Given the description of an element on the screen output the (x, y) to click on. 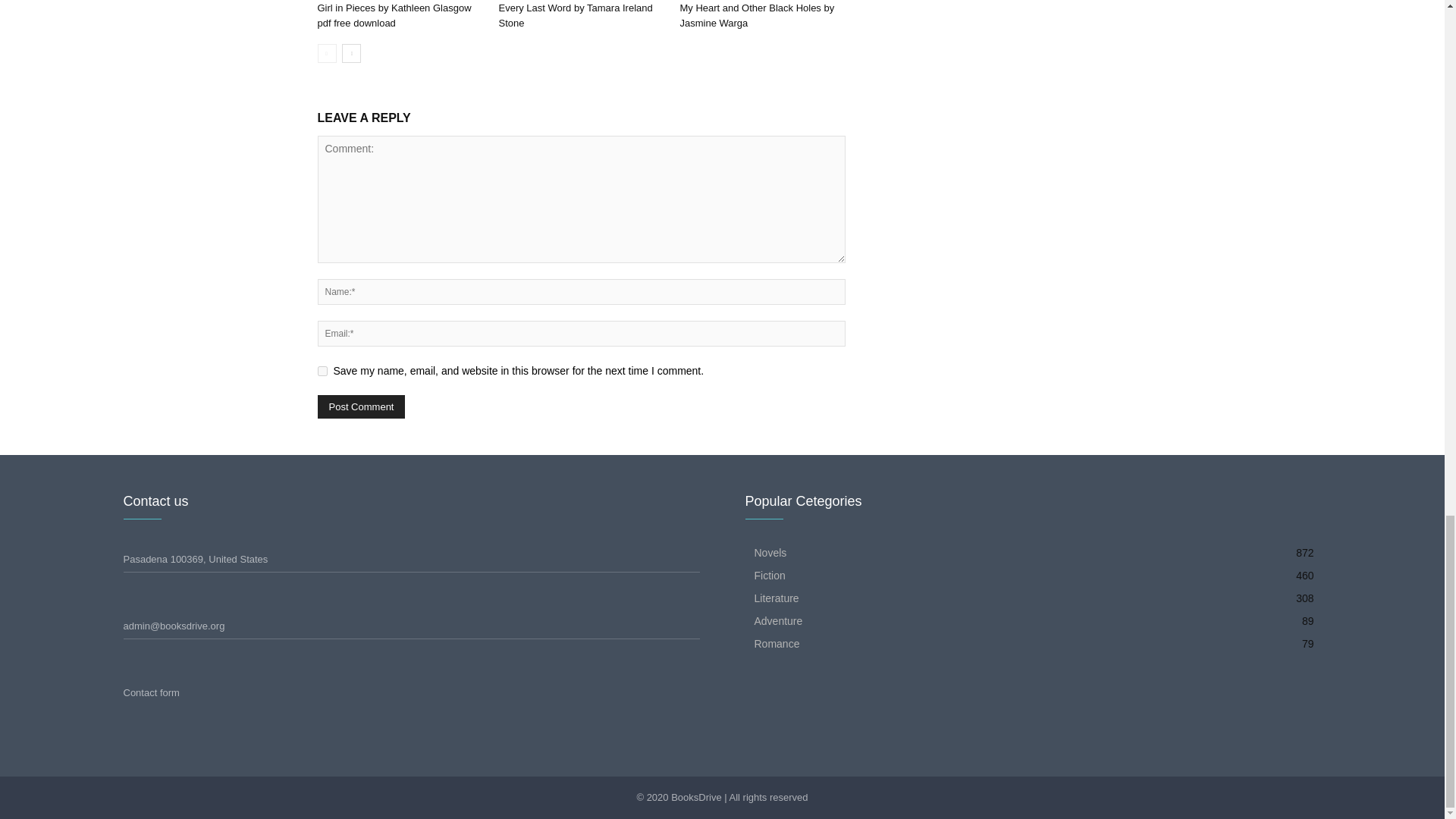
yes (321, 370)
Girl in Pieces by Kathleen Glasgow pdf free download (393, 15)
Post Comment (360, 406)
